Given the description of an element on the screen output the (x, y) to click on. 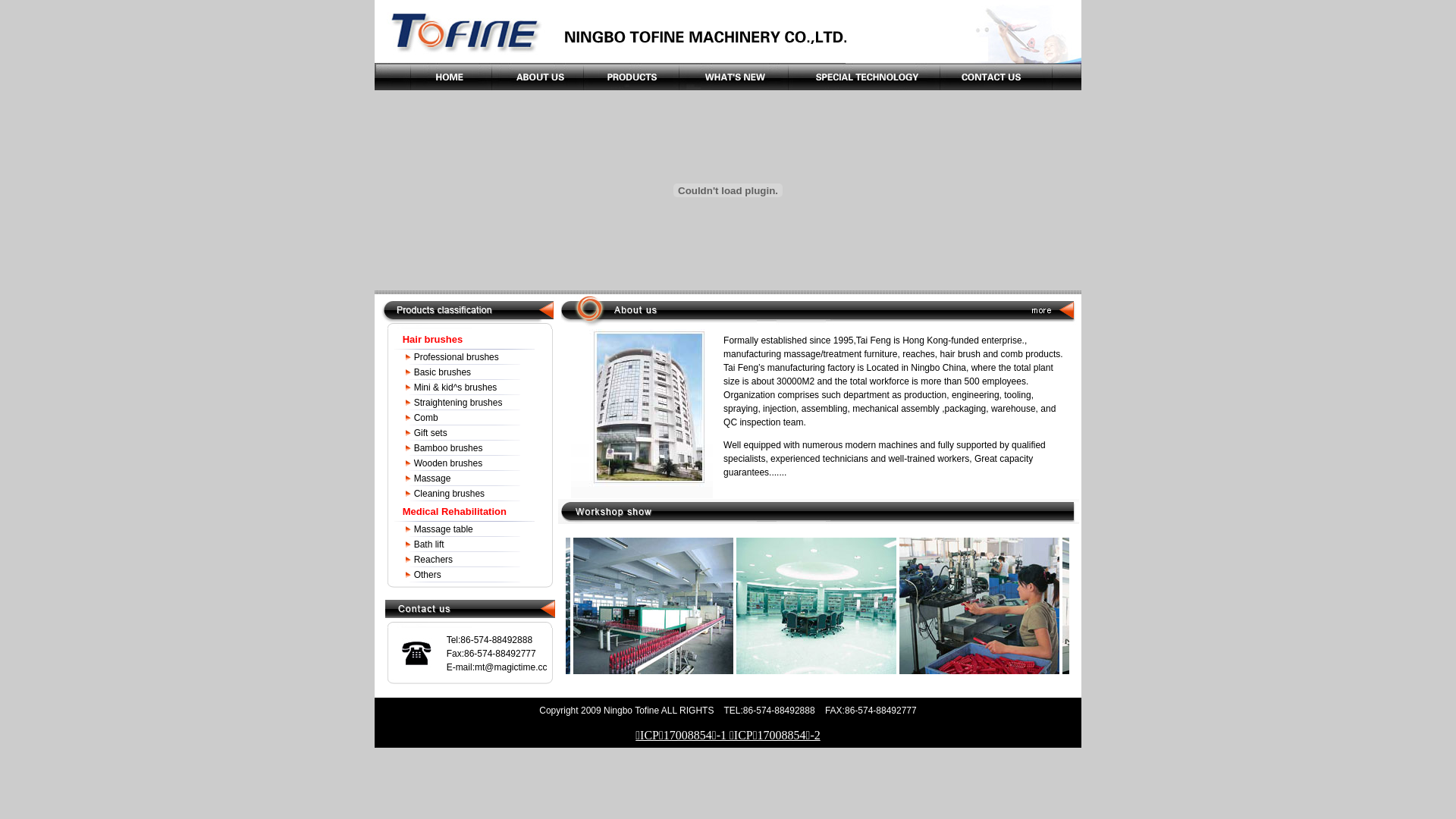
Professional brushes Element type: text (456, 356)
Straightening brushes Element type: text (458, 402)
Comb Element type: text (426, 417)
Massage Element type: text (432, 478)
Others Element type: text (427, 574)
Massage table Element type: text (443, 529)
Mini & kid^s brushes Element type: text (455, 387)
Bath lift Element type: text (429, 544)
Medical Rehabilitation Element type: text (454, 511)
Reachers Element type: text (433, 559)
Hair brushes Element type: text (432, 339)
Cleaning brushes Element type: text (449, 493)
Basic brushes Element type: text (442, 372)
Bamboo brushes Element type: text (448, 447)
Wooden brushes Element type: text (448, 463)
Gift sets Element type: text (430, 432)
